Given the description of an element on the screen output the (x, y) to click on. 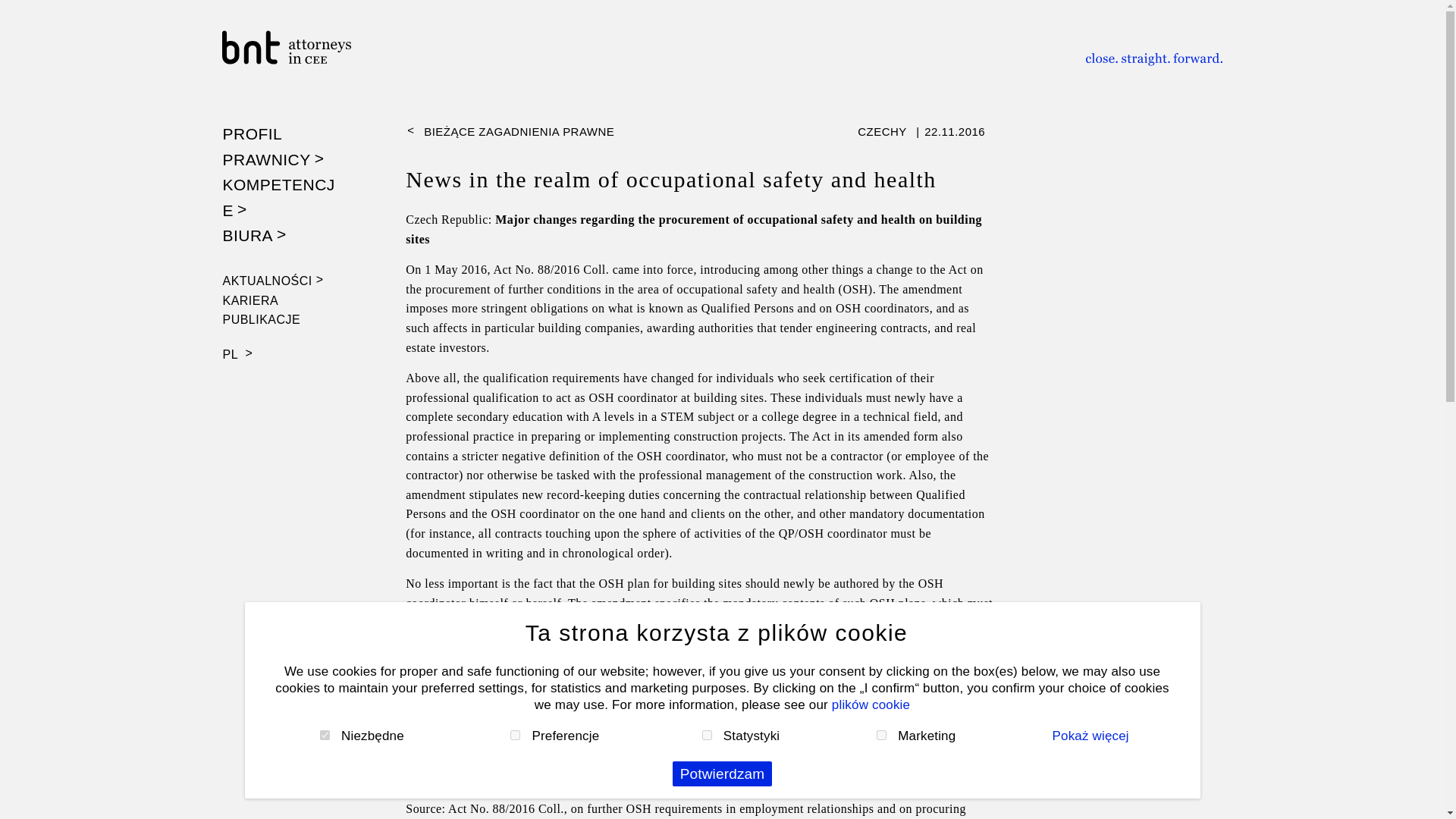
on (706, 735)
on (325, 735)
bnt attorneys in CEE (309, 47)
on (515, 735)
on (881, 735)
KARIERA (250, 300)
PUBLIKACJE (261, 318)
PROFIL (252, 133)
